Given the description of an element on the screen output the (x, y) to click on. 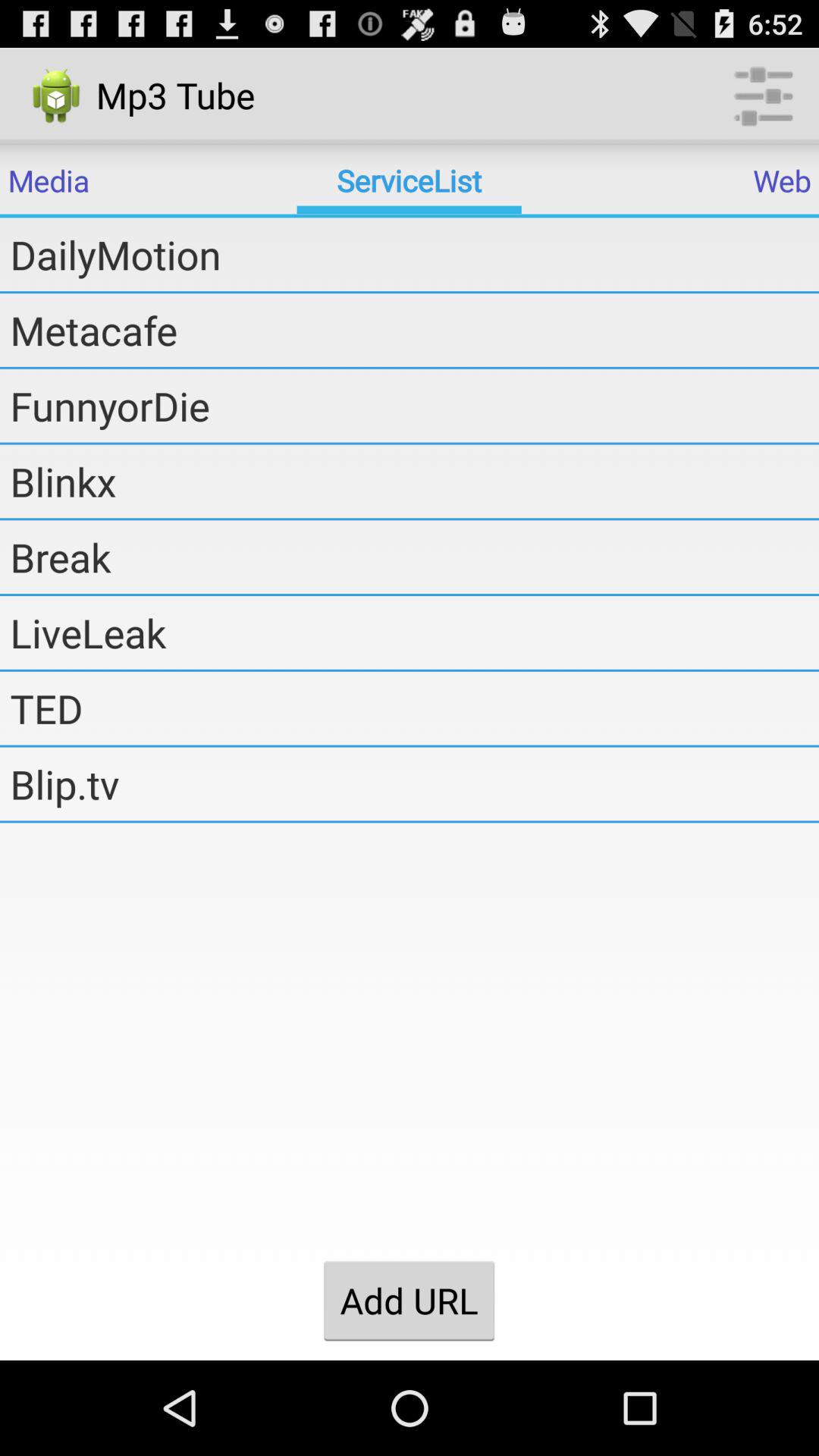
press the icon above liveleak icon (414, 556)
